Given the description of an element on the screen output the (x, y) to click on. 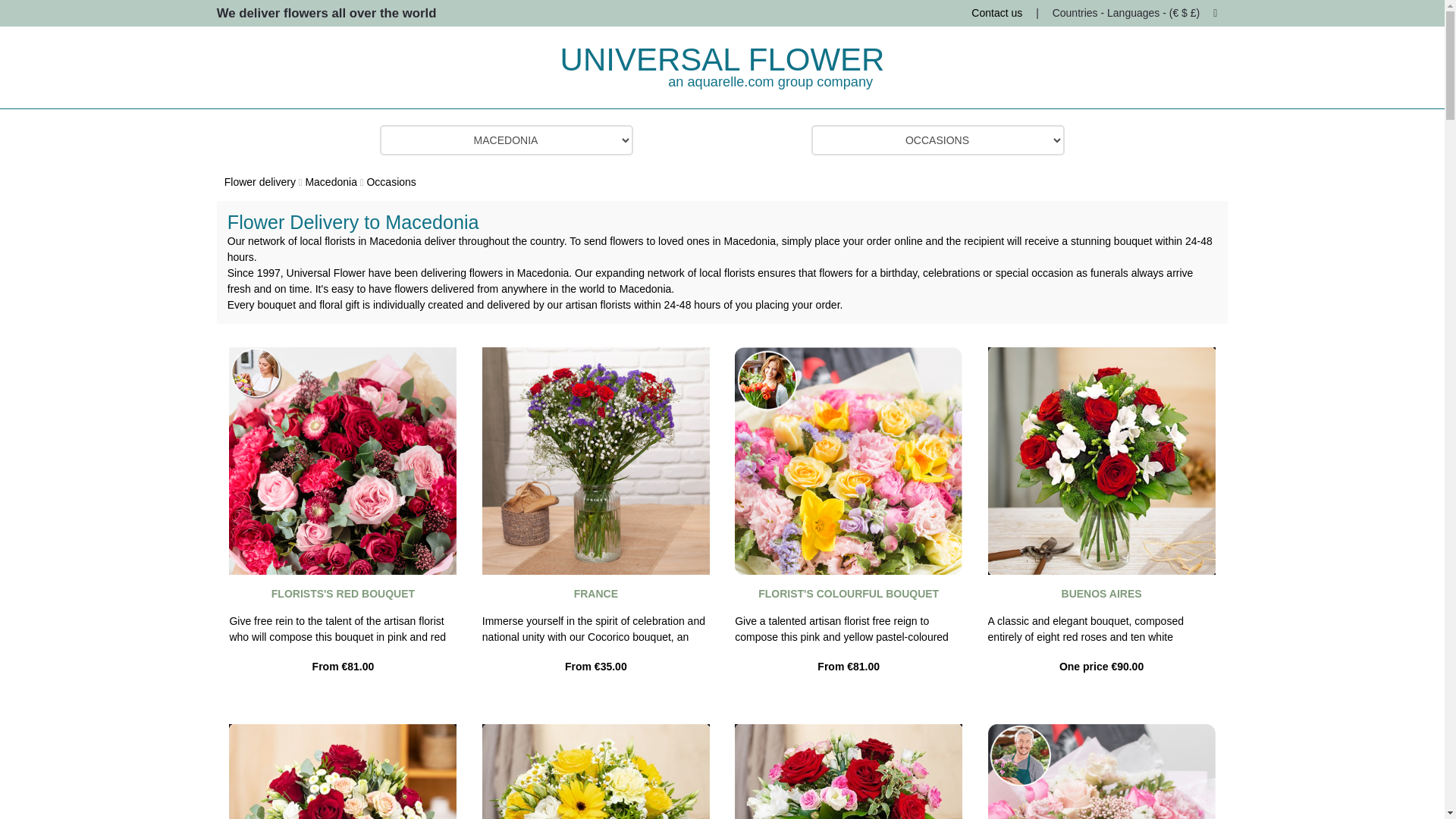
Flower delivery (259, 182)
Macedonia (330, 182)
Contact us (996, 12)
